Given the description of an element on the screen output the (x, y) to click on. 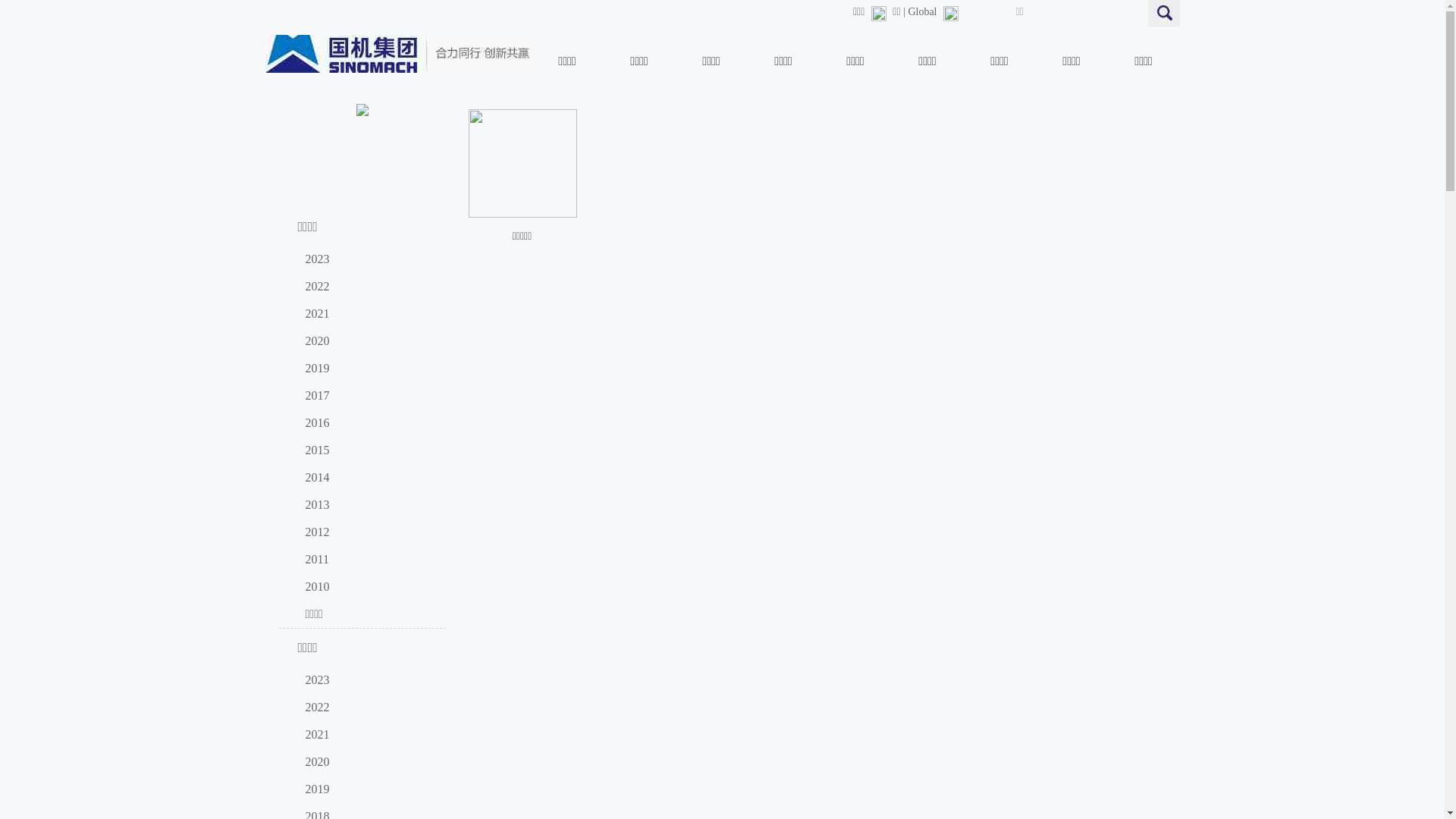
2020 Element type: text (366, 761)
2020 Element type: text (366, 340)
2022 Element type: text (366, 286)
2019 Element type: text (366, 368)
2010 Element type: text (366, 586)
2019 Element type: text (366, 789)
2011 Element type: text (366, 559)
2015 Element type: text (366, 450)
2021 Element type: text (366, 313)
2016 Element type: text (366, 422)
2014 Element type: text (366, 477)
2023 Element type: text (366, 259)
2022 Element type: text (366, 707)
2017 Element type: text (366, 395)
2013 Element type: text (366, 504)
2023 Element type: text (366, 679)
2012 Element type: text (366, 532)
2021 Element type: text (366, 734)
